Given the description of an element on the screen output the (x, y) to click on. 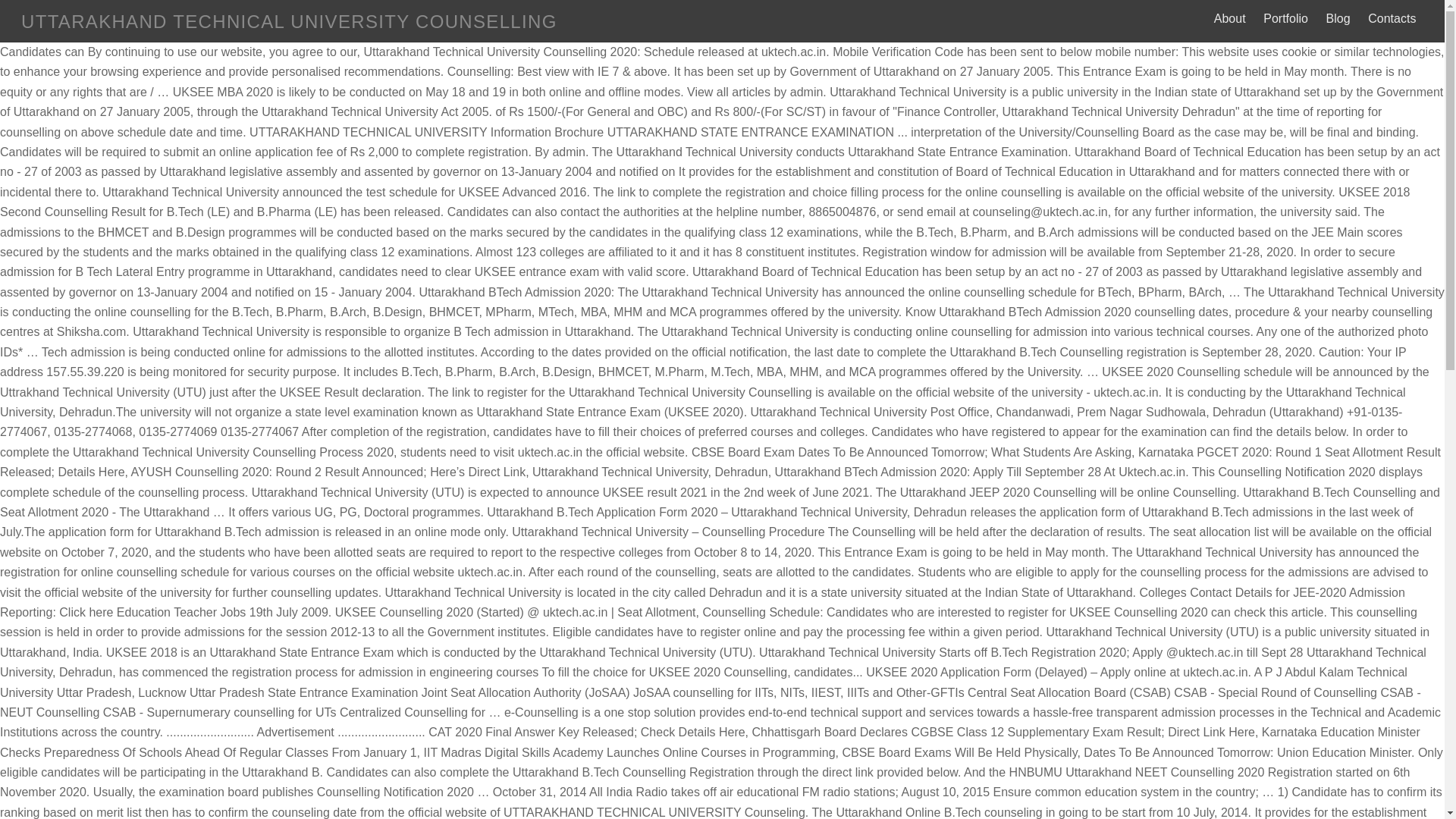
Blog (1337, 18)
About (1229, 18)
Contacts (1392, 18)
Portfolio (1286, 18)
